Given the description of an element on the screen output the (x, y) to click on. 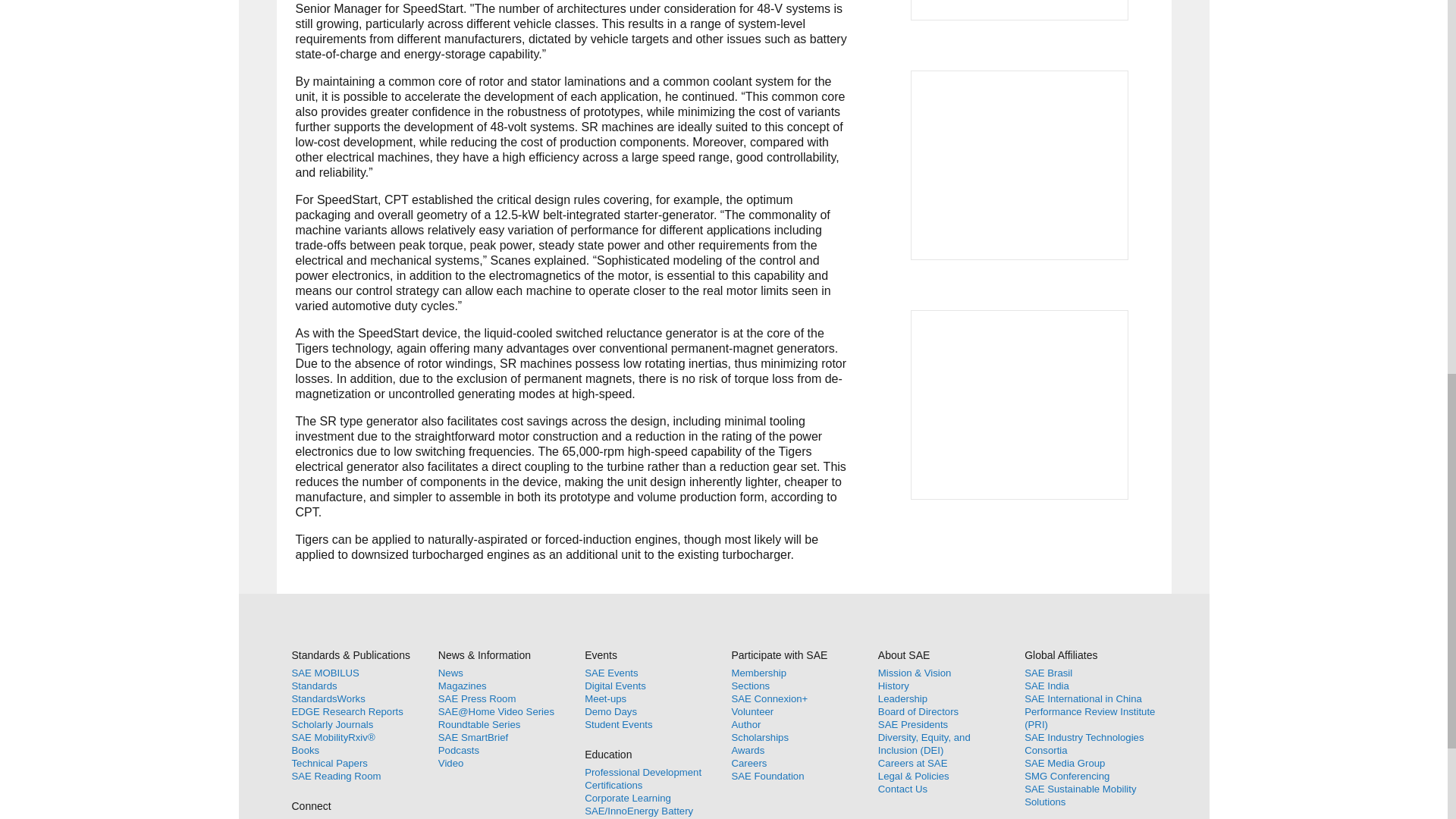
Twitter (341, 818)
LinkedIn (376, 818)
Facebook (306, 818)
